Given the description of an element on the screen output the (x, y) to click on. 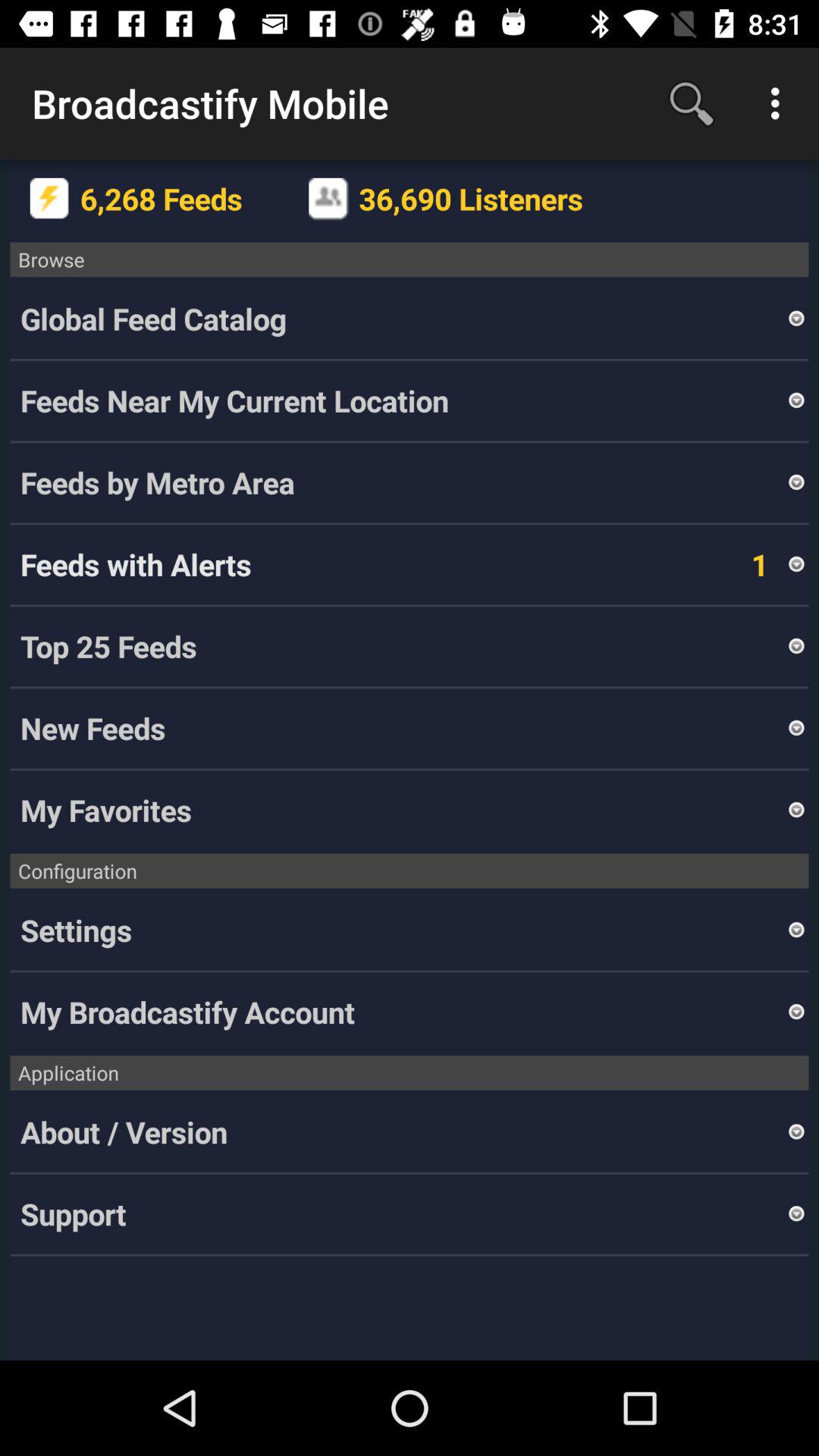
turn on the icon above the feeds near my (796, 318)
